Given the description of an element on the screen output the (x, y) to click on. 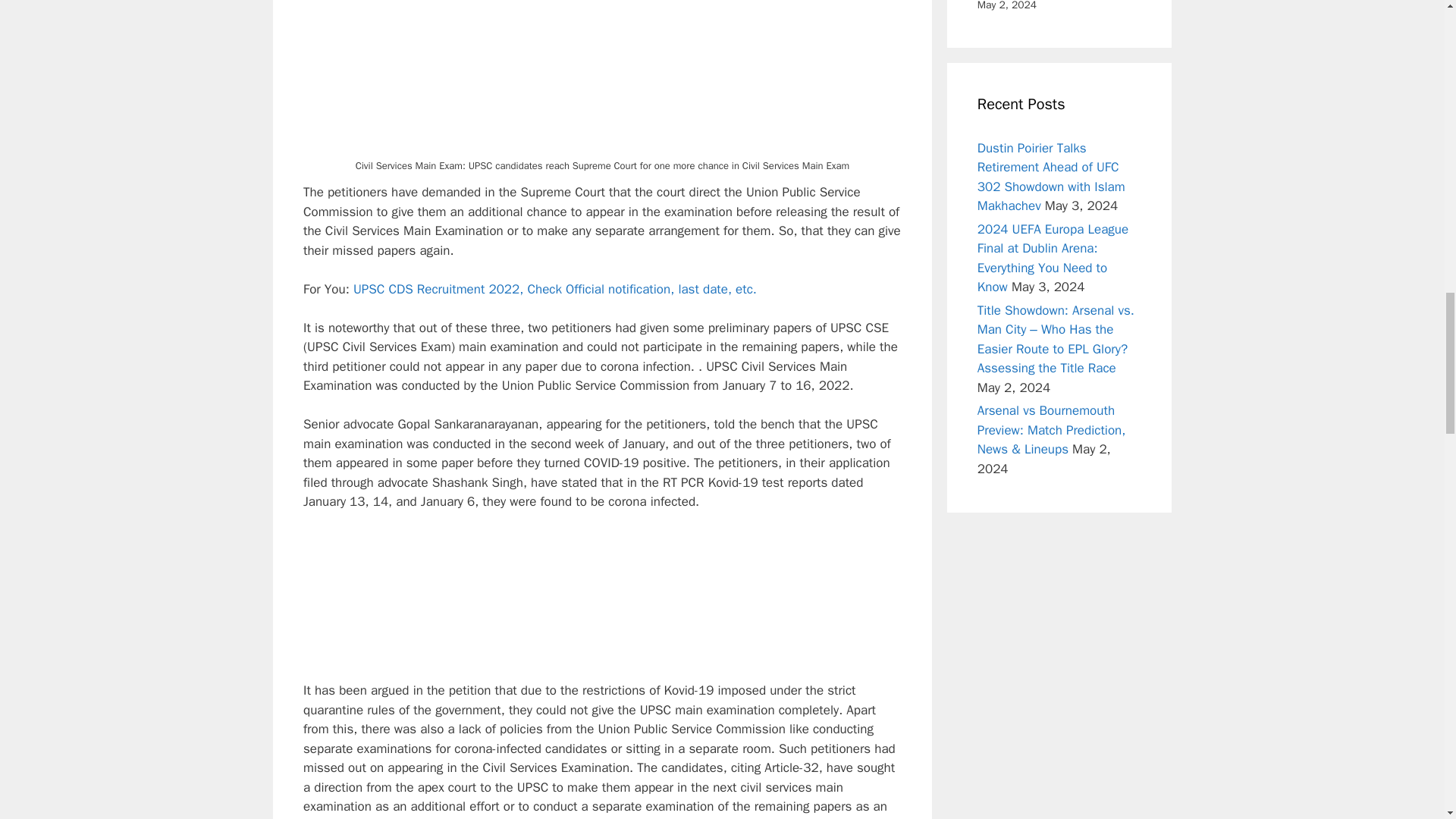
Advertisement (601, 605)
